Given the description of an element on the screen output the (x, y) to click on. 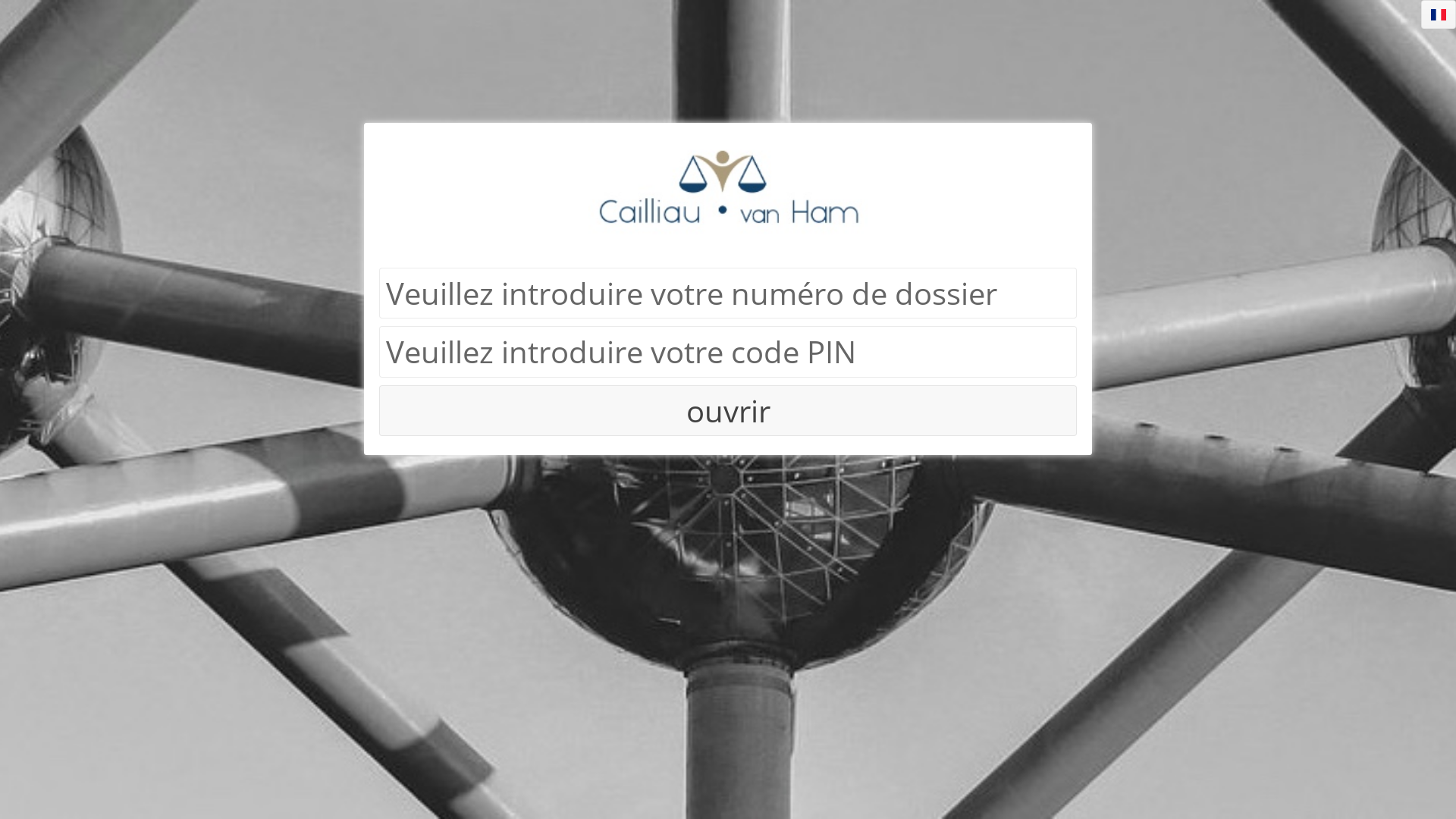
ouvrir Element type: text (727, 306)
